Given the description of an element on the screen output the (x, y) to click on. 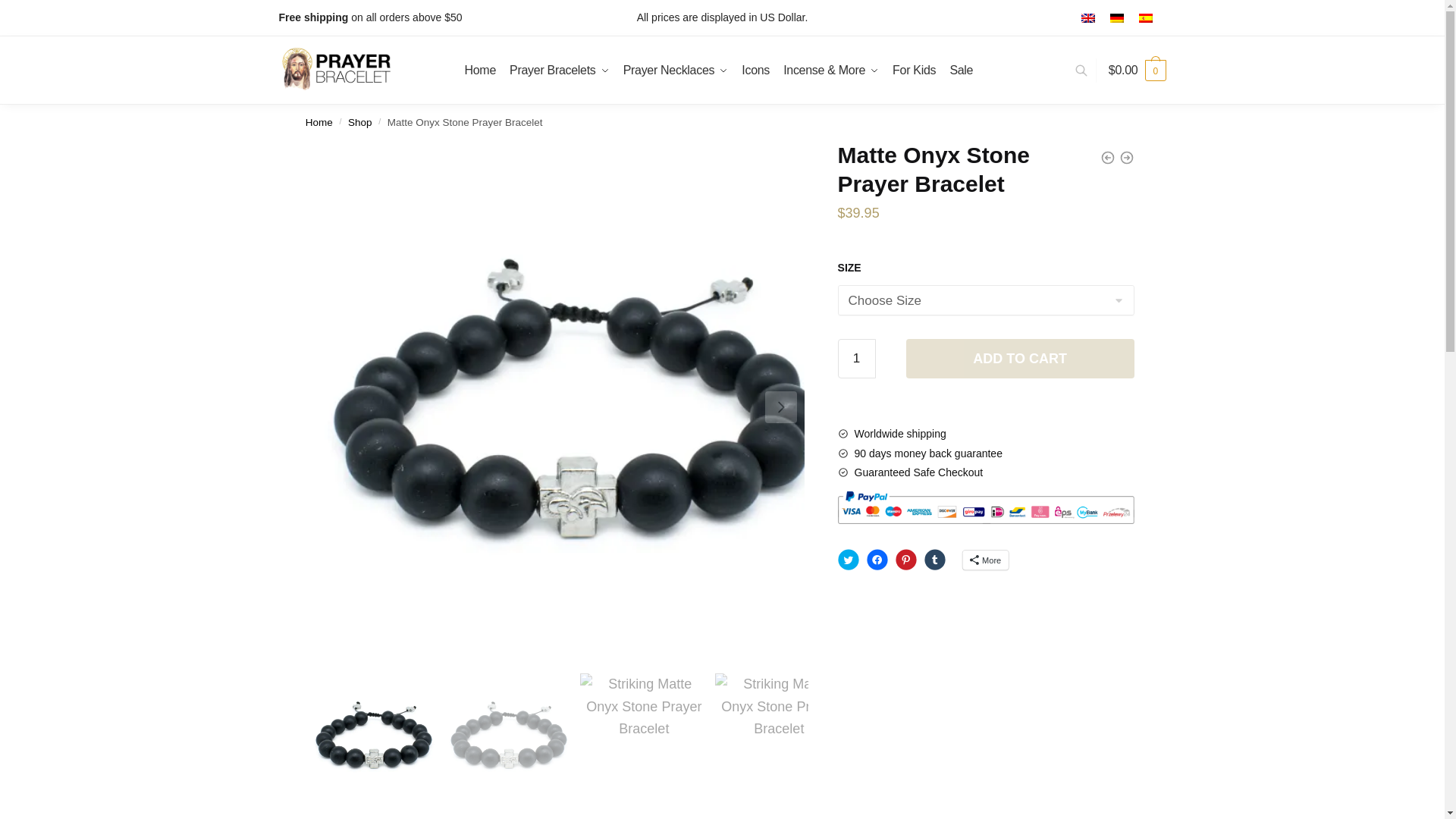
Prayer Necklaces (675, 70)
View your shopping cart (1137, 70)
1 (857, 358)
Matte Onyx Stone Prayer Bracelet-0 (374, 736)
Prayer Bracelets (558, 70)
Matte Onyx Stone Prayer Bracelet-0 (508, 736)
